Given the description of an element on the screen output the (x, y) to click on. 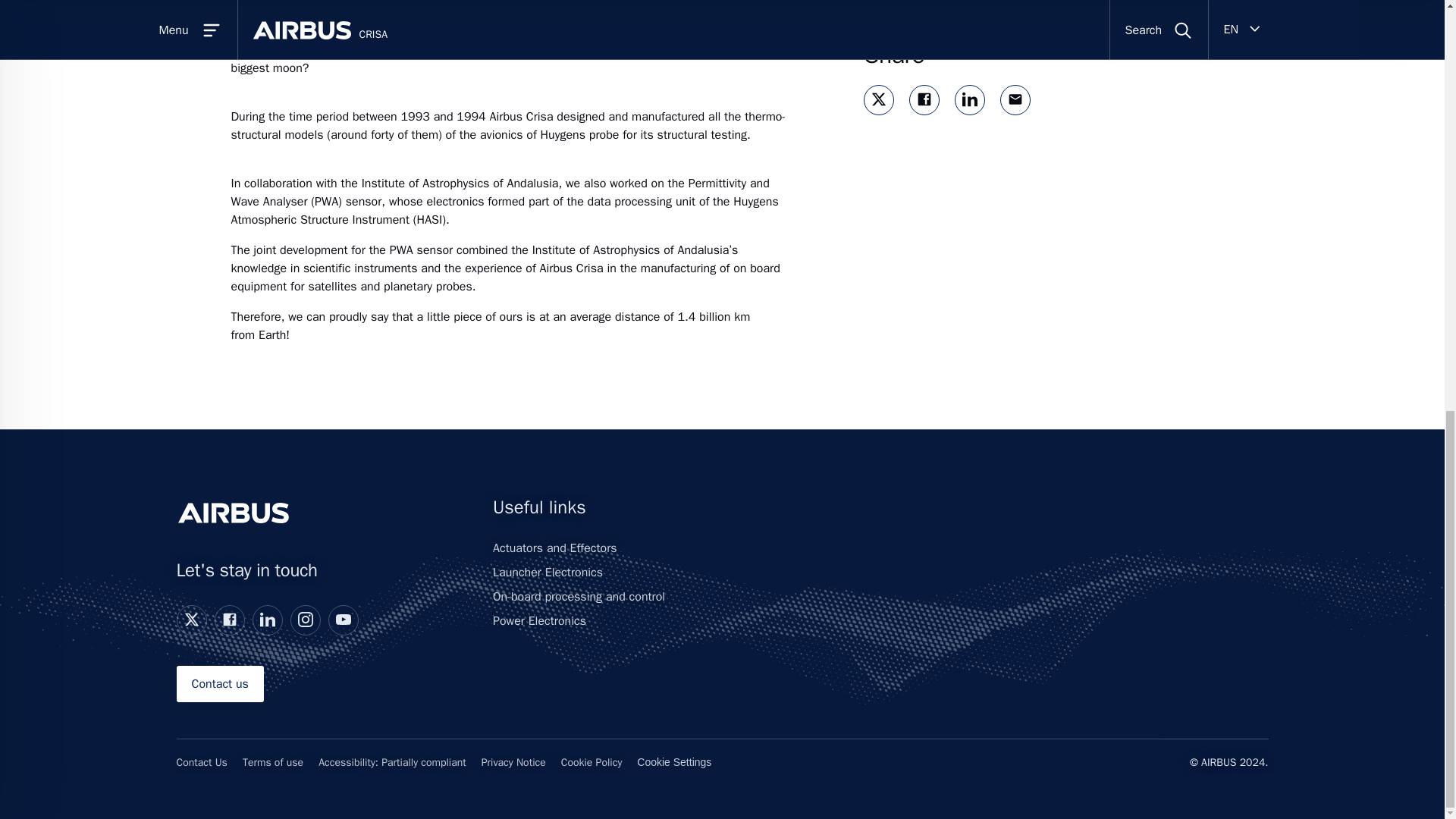
crisa X (878, 100)
Linkedin (267, 619)
crisa Facebook (923, 100)
X (191, 620)
Facebook (229, 620)
crisa Facebook (924, 99)
crisa Linkedin (969, 99)
crisa Linkedin (970, 100)
Youtube (342, 619)
Facebook (228, 619)
X (190, 619)
Youtube (342, 620)
crisa X (878, 99)
crisa Mail (1015, 99)
Instagram (305, 619)
